Given the description of an element on the screen output the (x, y) to click on. 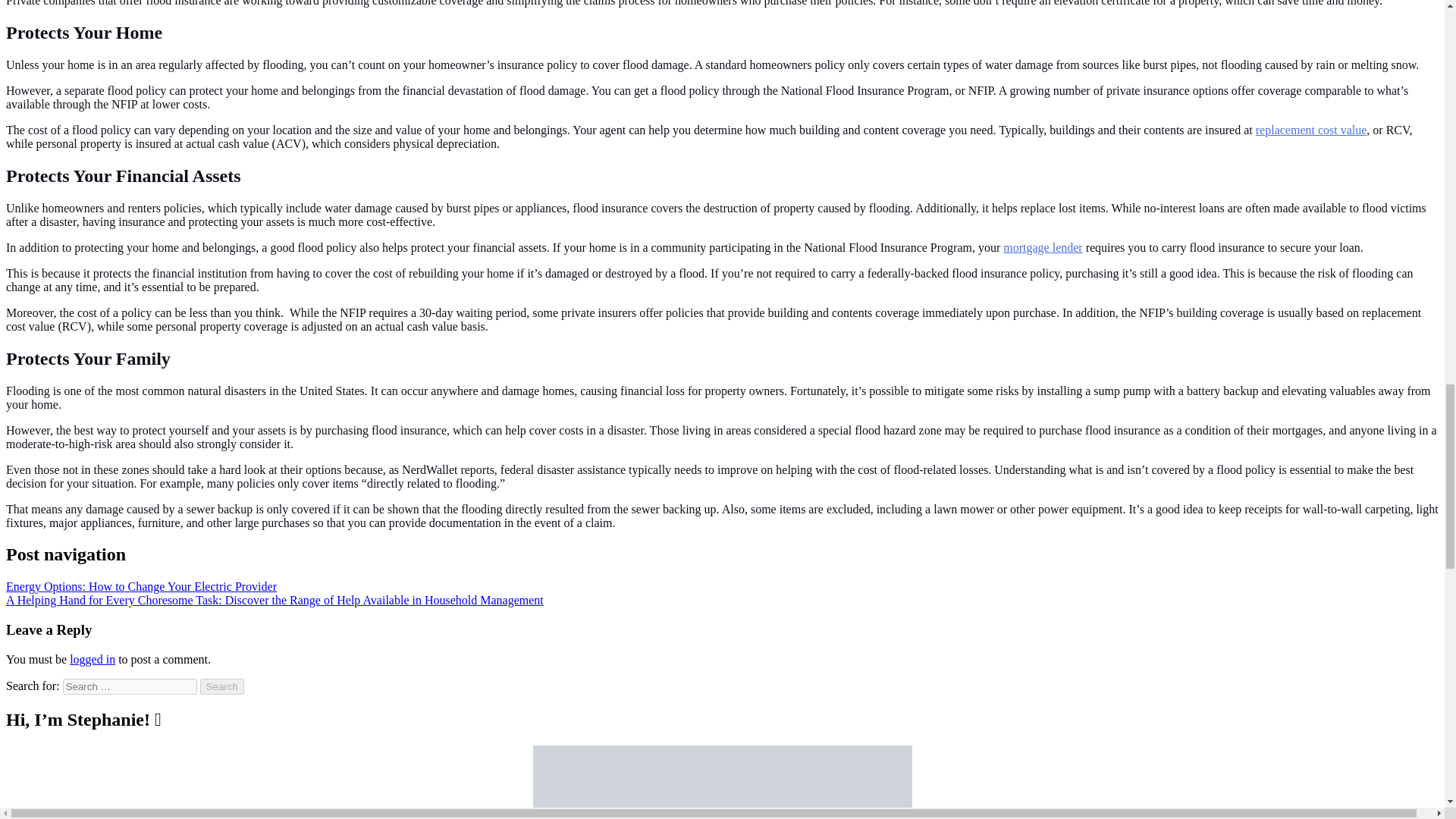
Search (222, 686)
Search (222, 686)
Energy Options: How to Change Your Electric Provider (140, 585)
logged in (92, 658)
Search (222, 686)
mortgage lender (1042, 246)
replacement cost value (1311, 129)
